Given the description of an element on the screen output the (x, y) to click on. 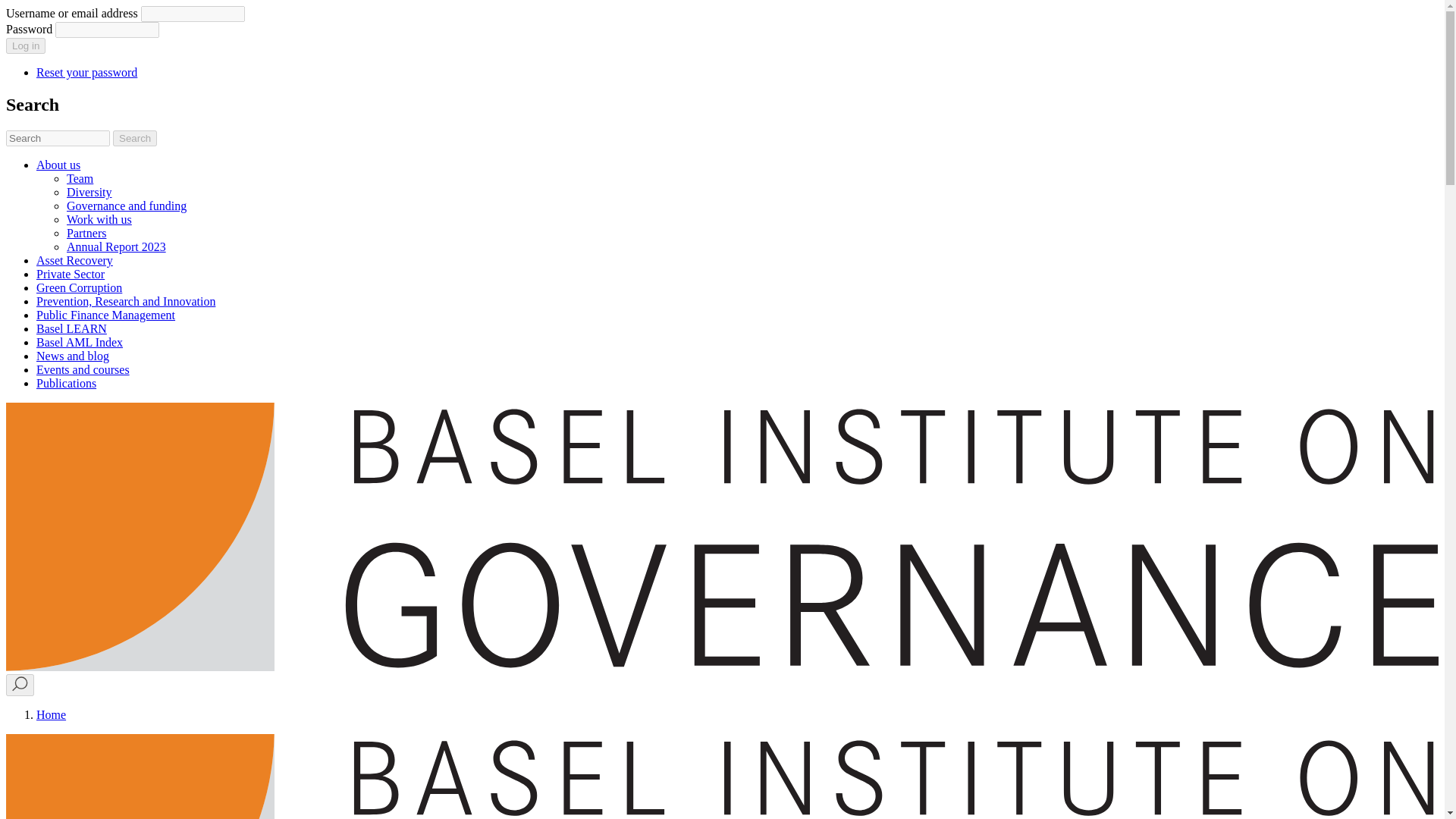
News and blog (72, 355)
Governance and funding (126, 205)
Prevention, Research and Innovation (125, 300)
About us (58, 164)
Publications (66, 382)
Events and courses (82, 369)
Log in (25, 45)
Diversity (89, 192)
Public Finance Management (105, 314)
Annual Report 2023 (115, 246)
